Given the description of an element on the screen output the (x, y) to click on. 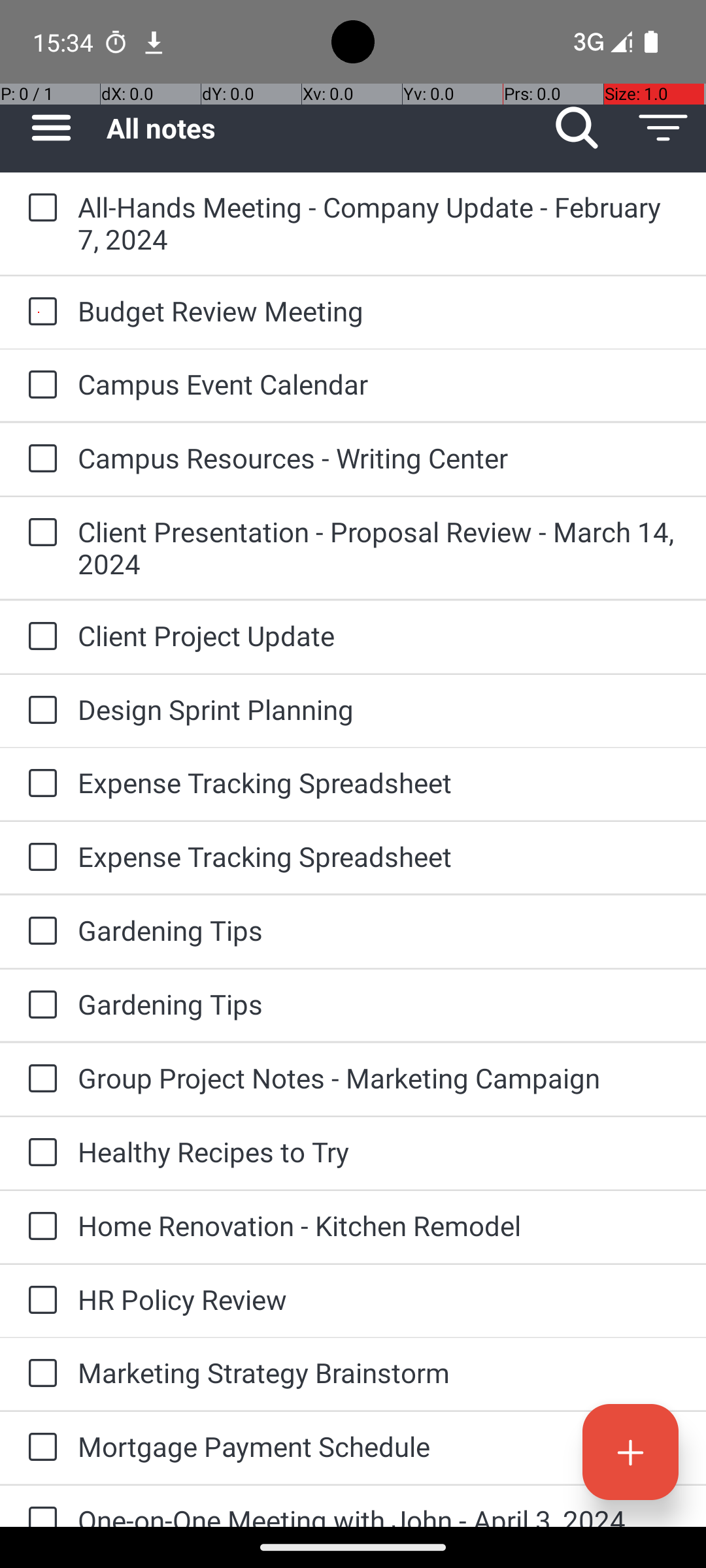
to-do: Campus Resources - Writing Center Element type: android.widget.CheckBox (38, 459)
Campus Resources - Writing Center Element type: android.widget.TextView (378, 457)
to-do: Client Presentation - Proposal Review - March 14, 2024 Element type: android.widget.CheckBox (38, 533)
Client Presentation - Proposal Review - March 14, 2024 Element type: android.widget.TextView (378, 547)
to-do: Expense Tracking Spreadsheet Element type: android.widget.CheckBox (38, 783)
to-do: Healthy Recipes to Try Element type: android.widget.CheckBox (38, 1153)
Healthy Recipes to Try Element type: android.widget.TextView (378, 1151)
to-do: Home Renovation - Kitchen Remodel Element type: android.widget.CheckBox (38, 1226)
Home Renovation - Kitchen Remodel Element type: android.widget.TextView (378, 1224)
to-do: HR Policy Review Element type: android.widget.CheckBox (38, 1300)
HR Policy Review Element type: android.widget.TextView (378, 1298)
to-do: Marketing Strategy Brainstorm Element type: android.widget.CheckBox (38, 1373)
Marketing Strategy Brainstorm Element type: android.widget.TextView (378, 1371)
